Given the description of an element on the screen output the (x, y) to click on. 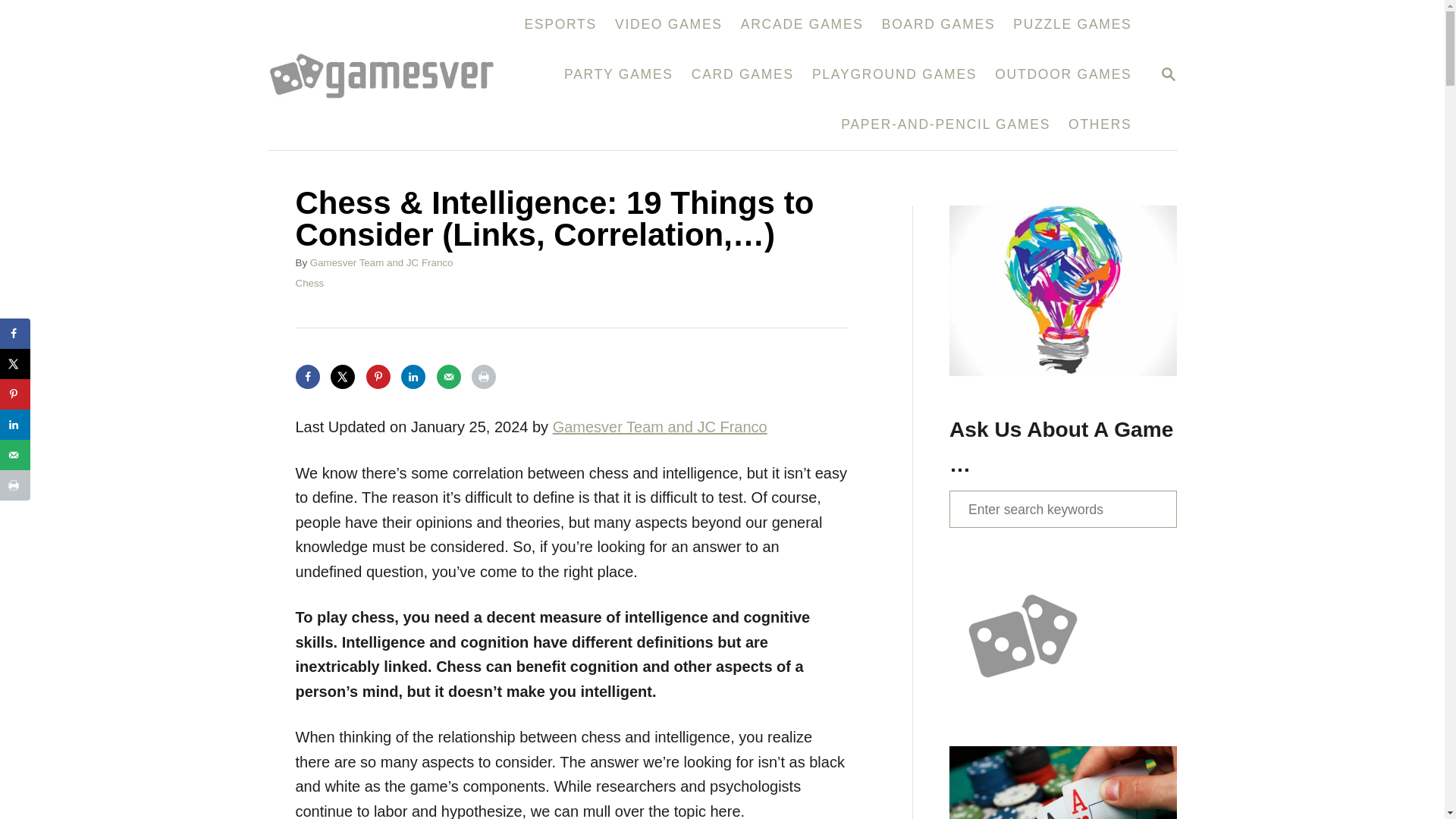
ARCADE GAMES (802, 24)
BOARD GAMES (938, 24)
PUZZLE GAMES (1072, 24)
ESPORTS (560, 24)
Print this webpage (483, 376)
Share on LinkedIn (413, 376)
Save to Pinterest (1167, 75)
Share on X (378, 376)
Send over email (342, 376)
